Given the description of an element on the screen output the (x, y) to click on. 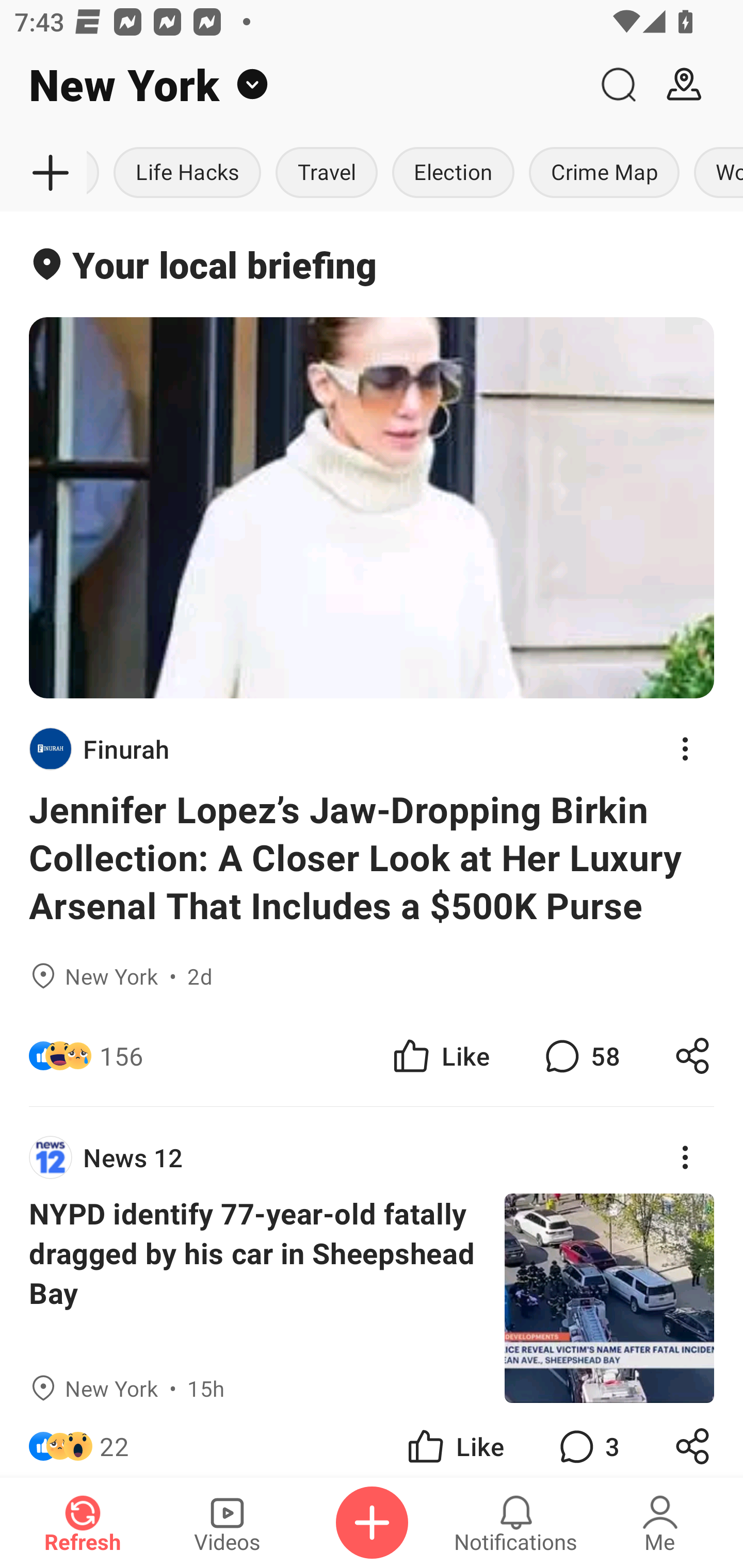
New York (292, 84)
Life Hacks (187, 172)
Travel (326, 172)
Election (452, 172)
Crime Map (603, 172)
156 (121, 1055)
Like (439, 1055)
58 (579, 1055)
22 (114, 1440)
Like (454, 1440)
3 (587, 1440)
Videos (227, 1522)
Notifications (516, 1522)
Me (659, 1522)
